Given the description of an element on the screen output the (x, y) to click on. 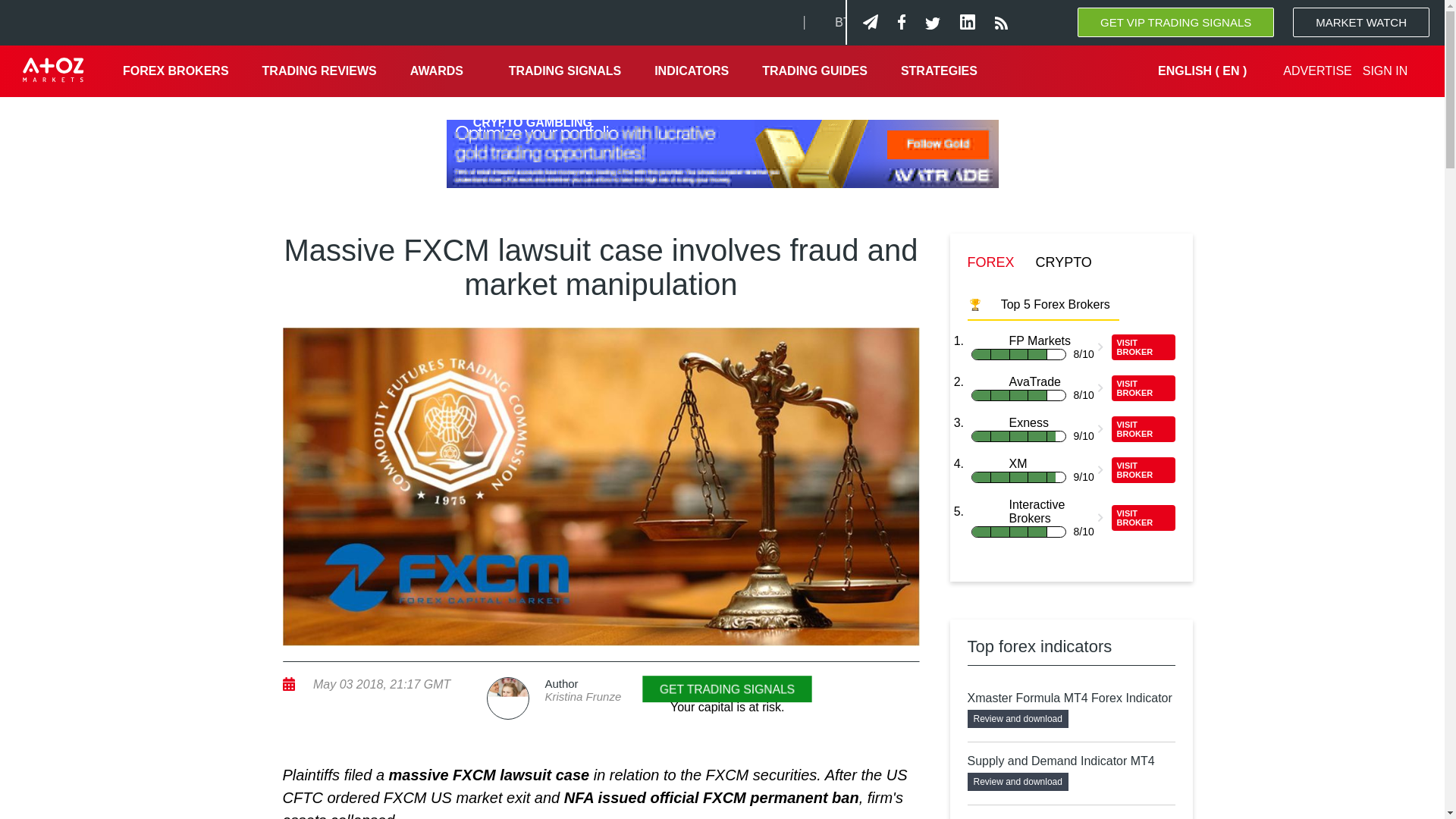
MARKET WATCH (1360, 21)
TRADING REVIEWS (319, 71)
FOREX BROKERS (176, 71)
